Given the description of an element on the screen output the (x, y) to click on. 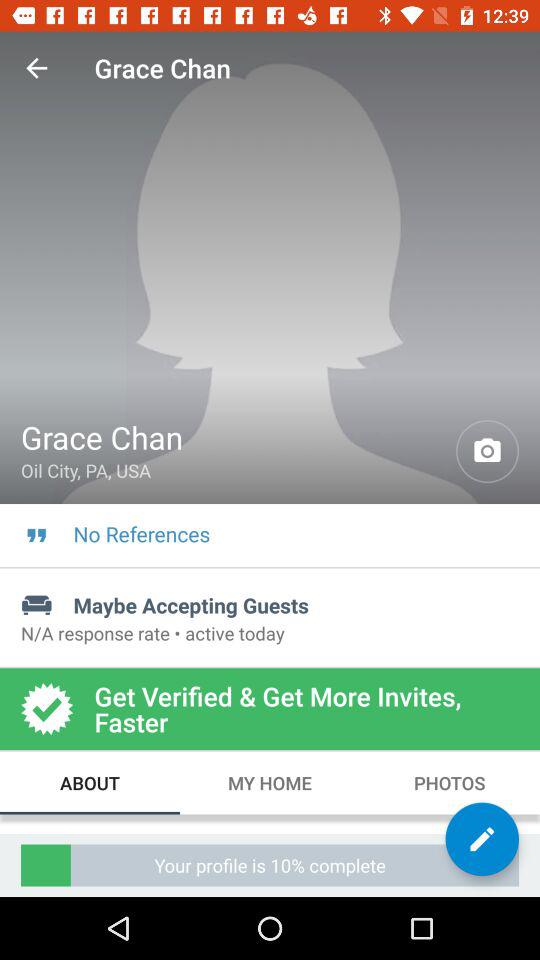
choose your profile is item (270, 864)
